Given the description of an element on the screen output the (x, y) to click on. 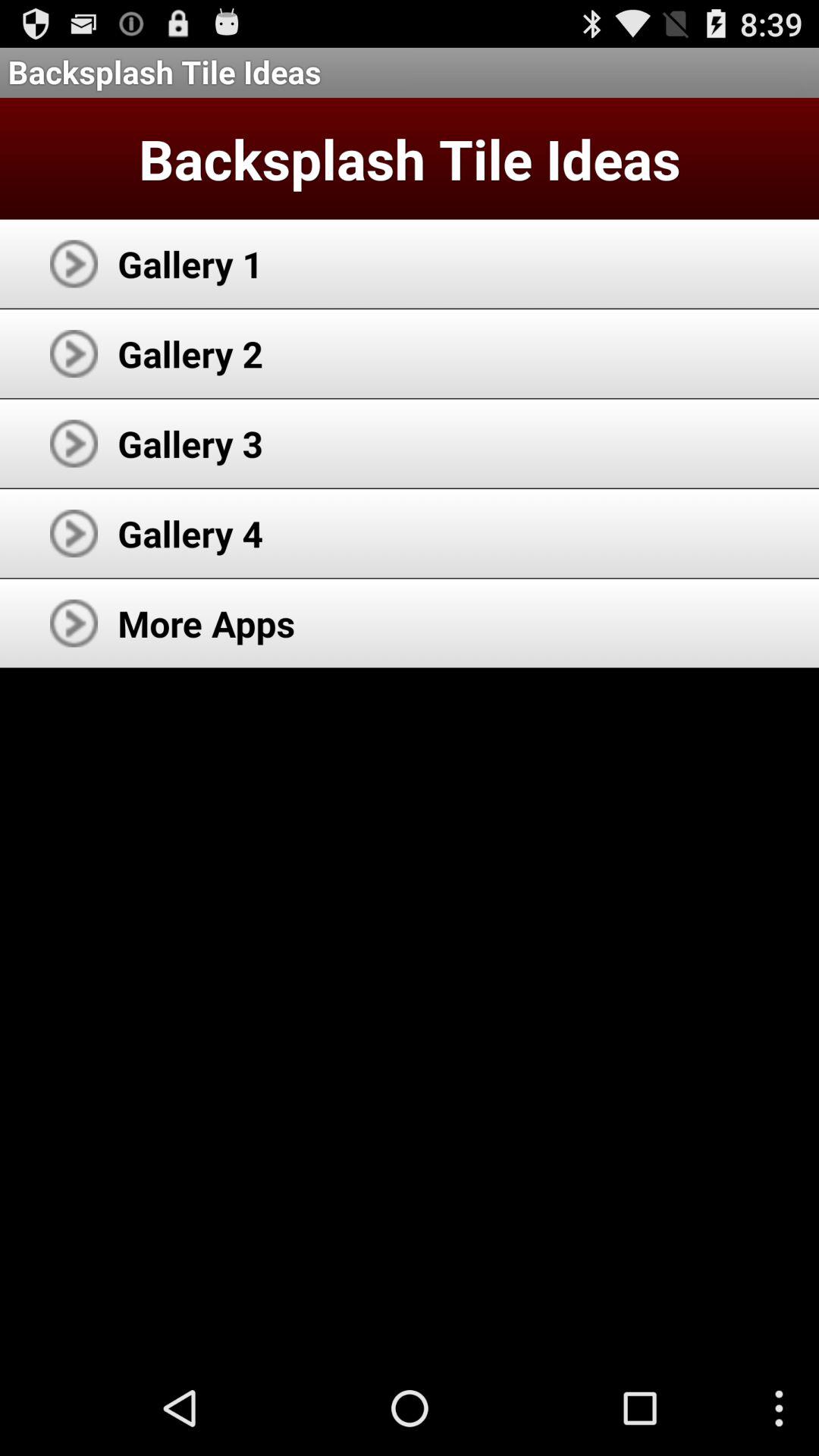
scroll to more apps app (206, 622)
